Given the description of an element on the screen output the (x, y) to click on. 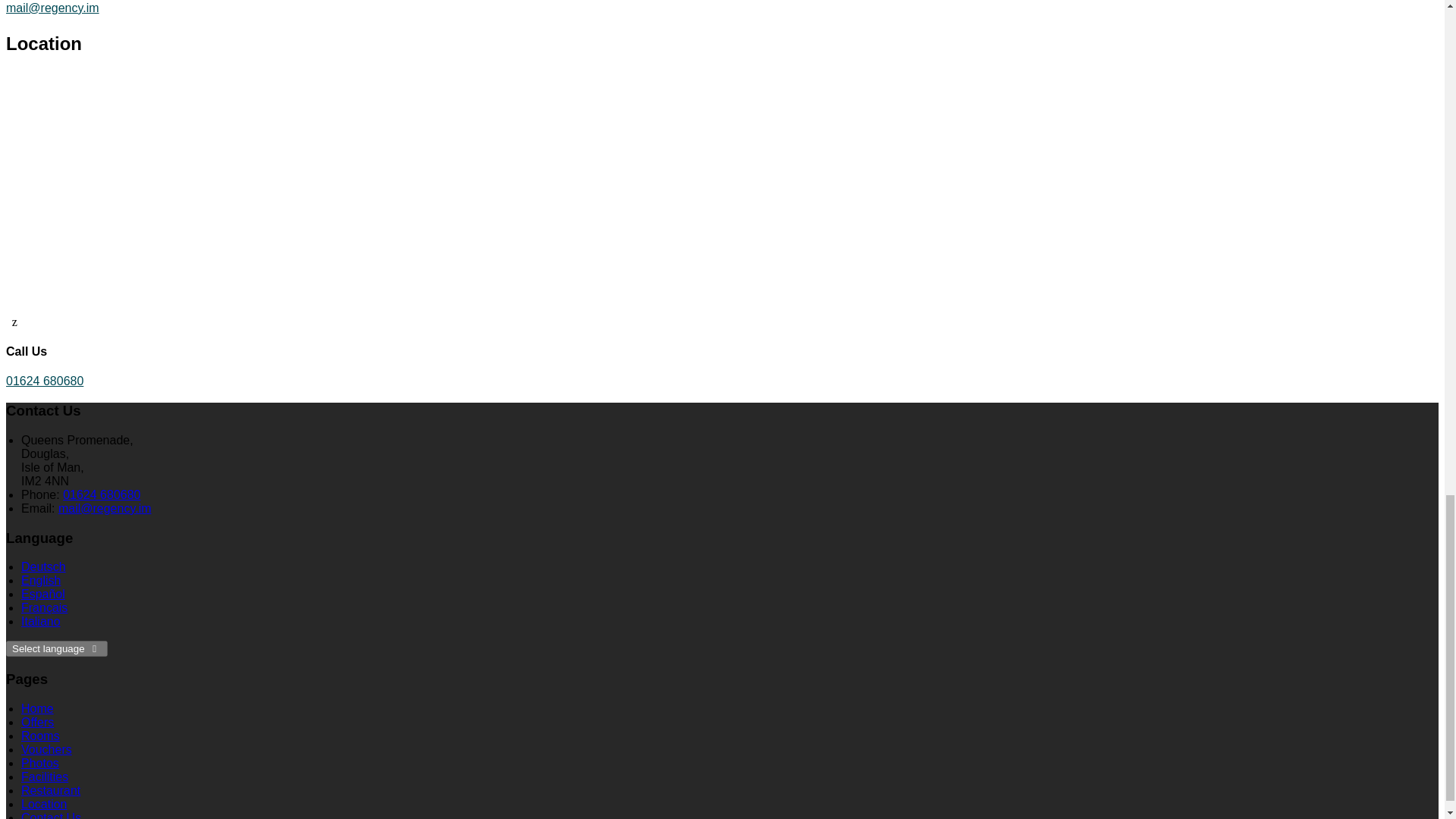
Italiano (41, 621)
Deutsch (43, 566)
English (41, 580)
